Given the description of an element on the screen output the (x, y) to click on. 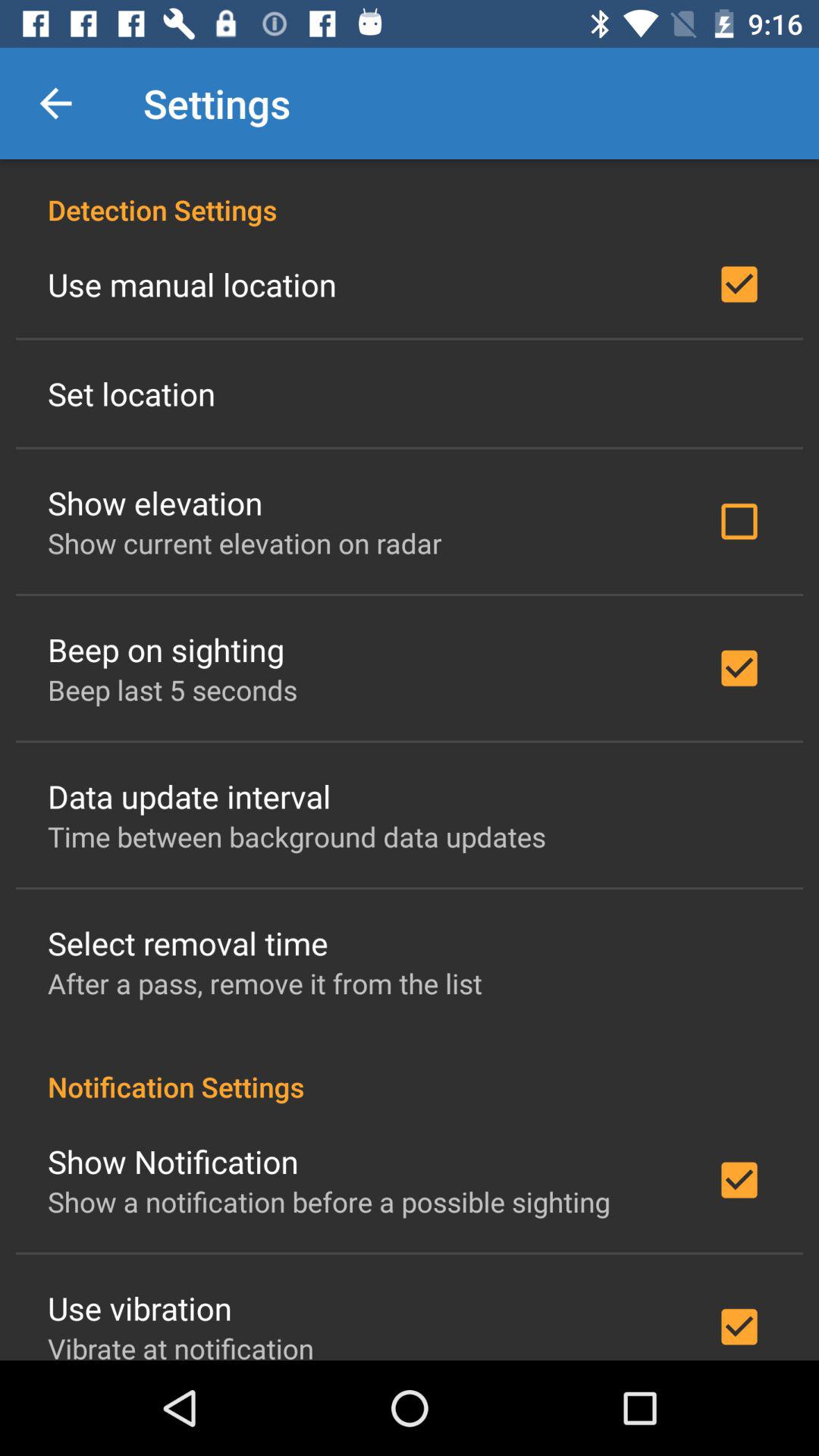
choose the icon above the time between background item (189, 795)
